Given the description of an element on the screen output the (x, y) to click on. 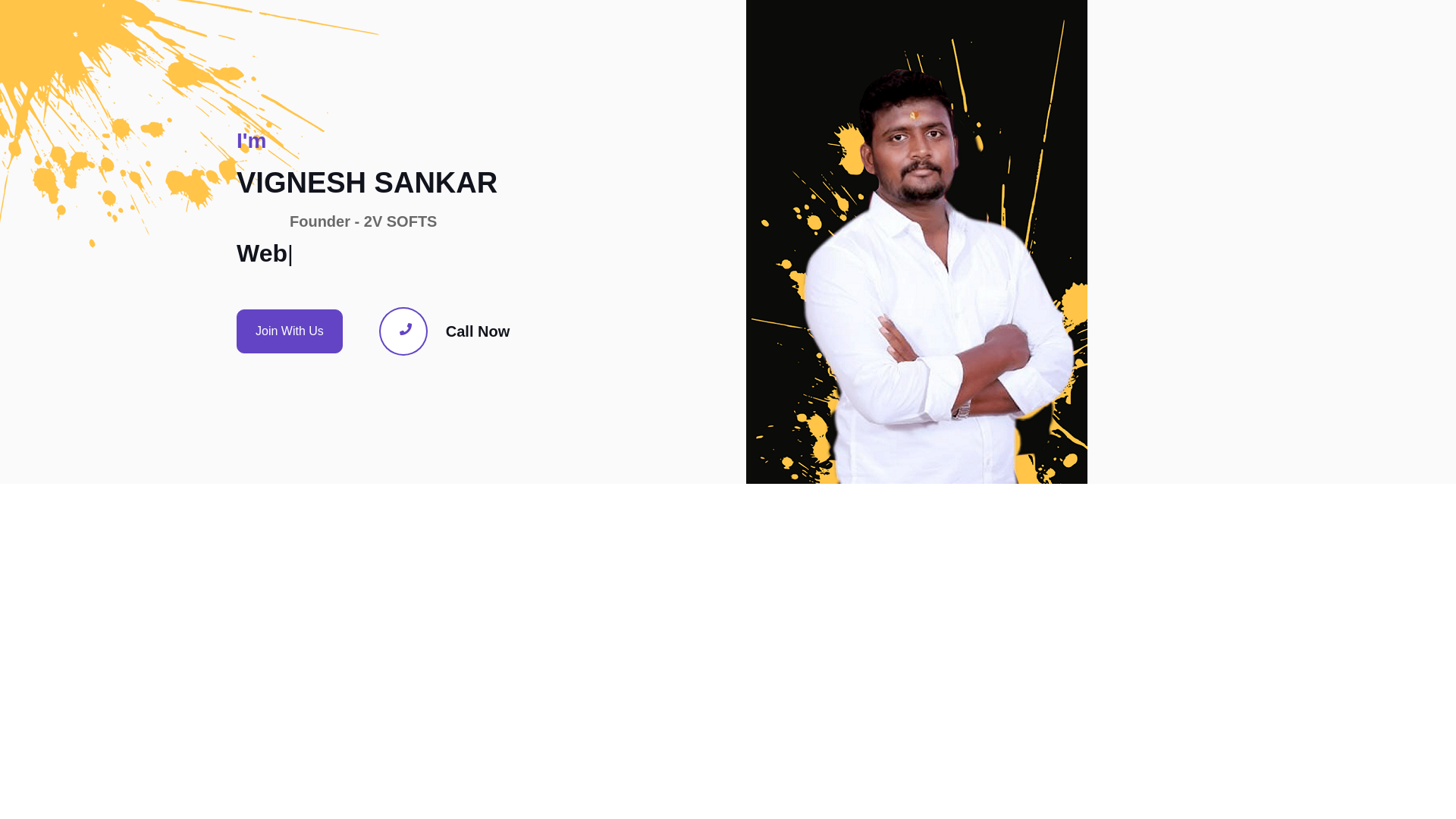
Join With Us Element type: text (289, 331)
